Given the description of an element on the screen output the (x, y) to click on. 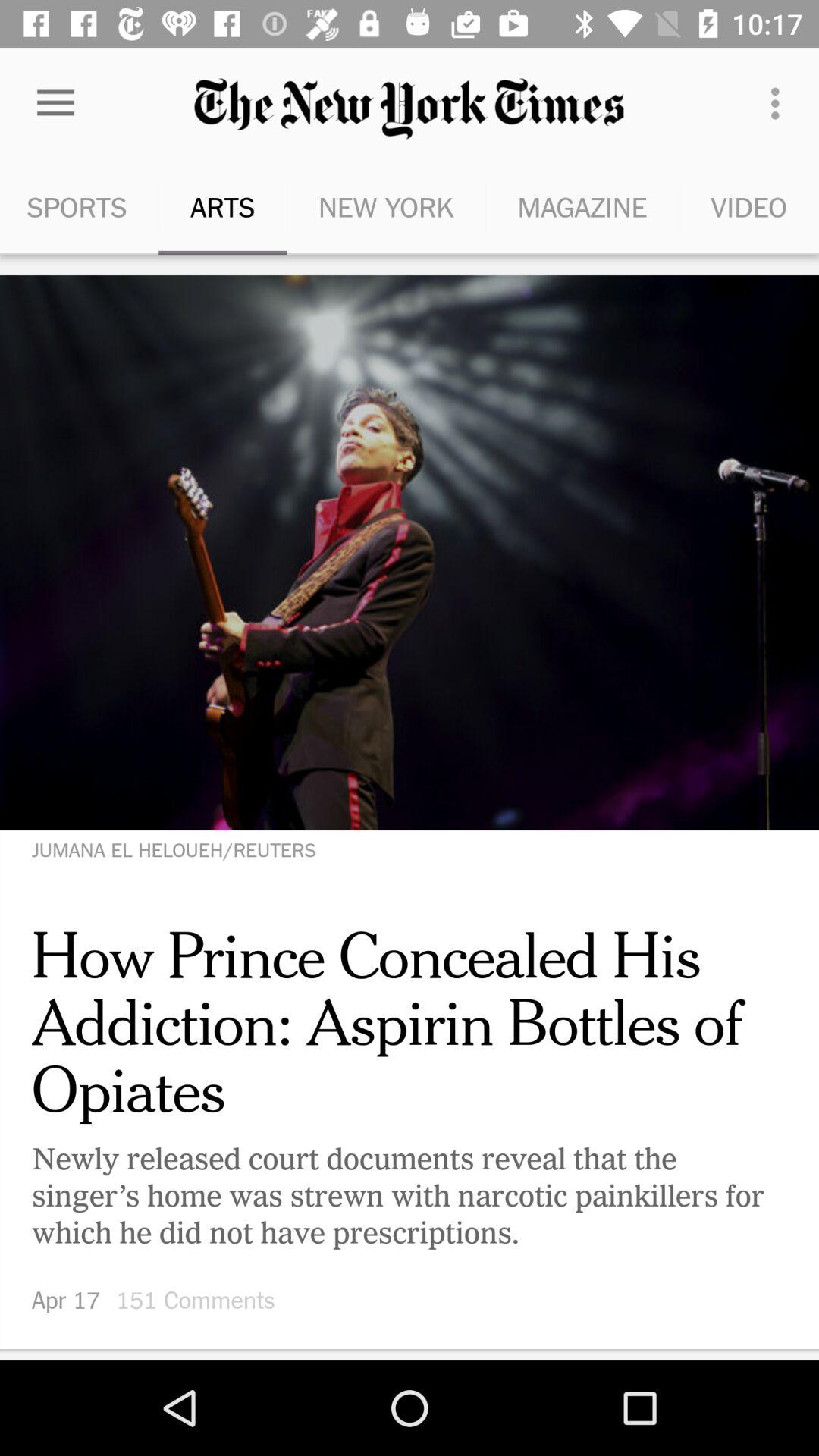
jump until magazine item (582, 206)
